Given the description of an element on the screen output the (x, y) to click on. 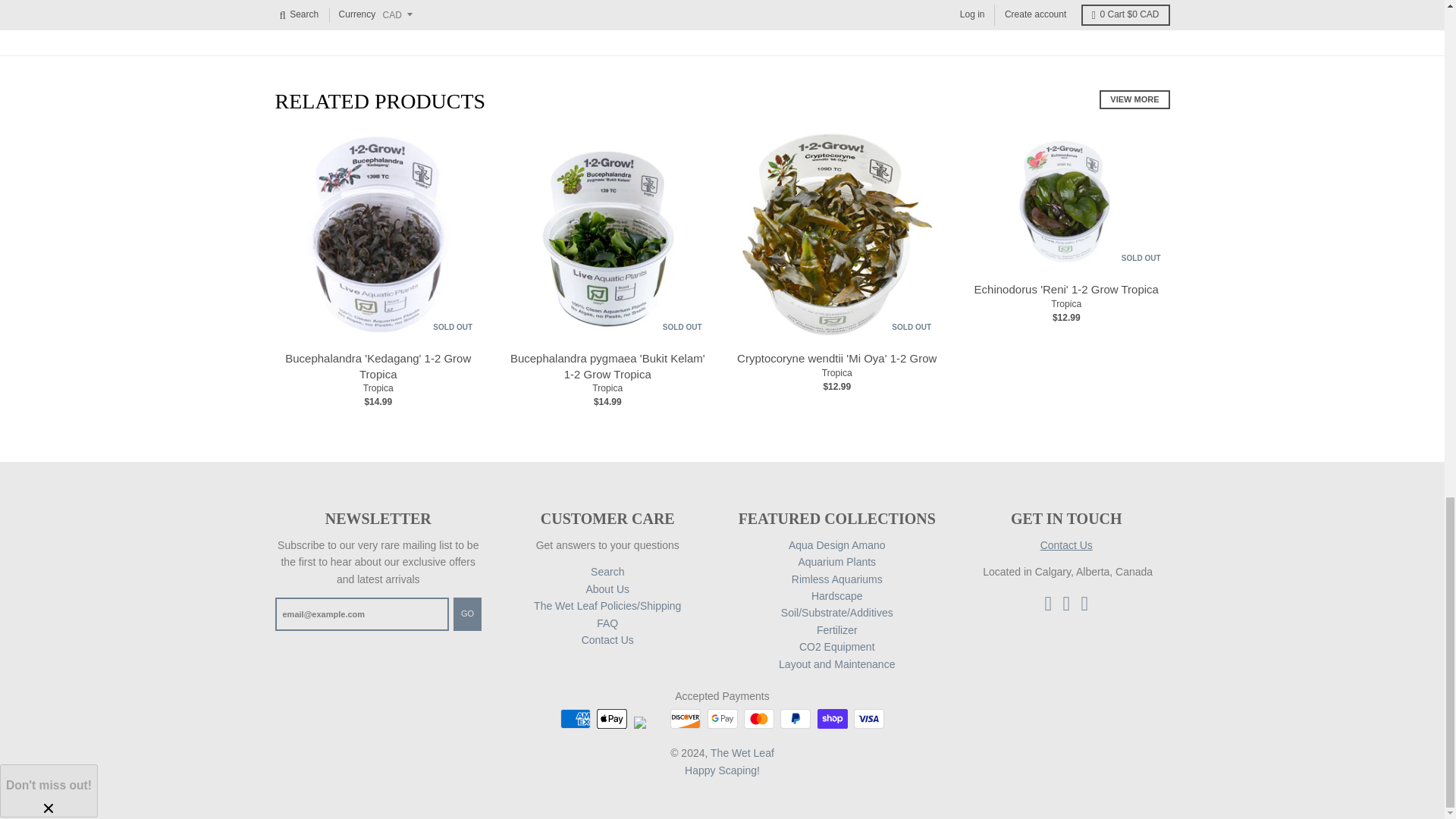
The Wet Leaf on Facebook (1047, 602)
The Wet Leaf on Instagram (1066, 602)
The Wet Leaf on Google Plus (1085, 602)
Tropica (836, 372)
Tropica (1066, 303)
Tropica (607, 388)
Tropica (377, 388)
